Given the description of an element on the screen output the (x, y) to click on. 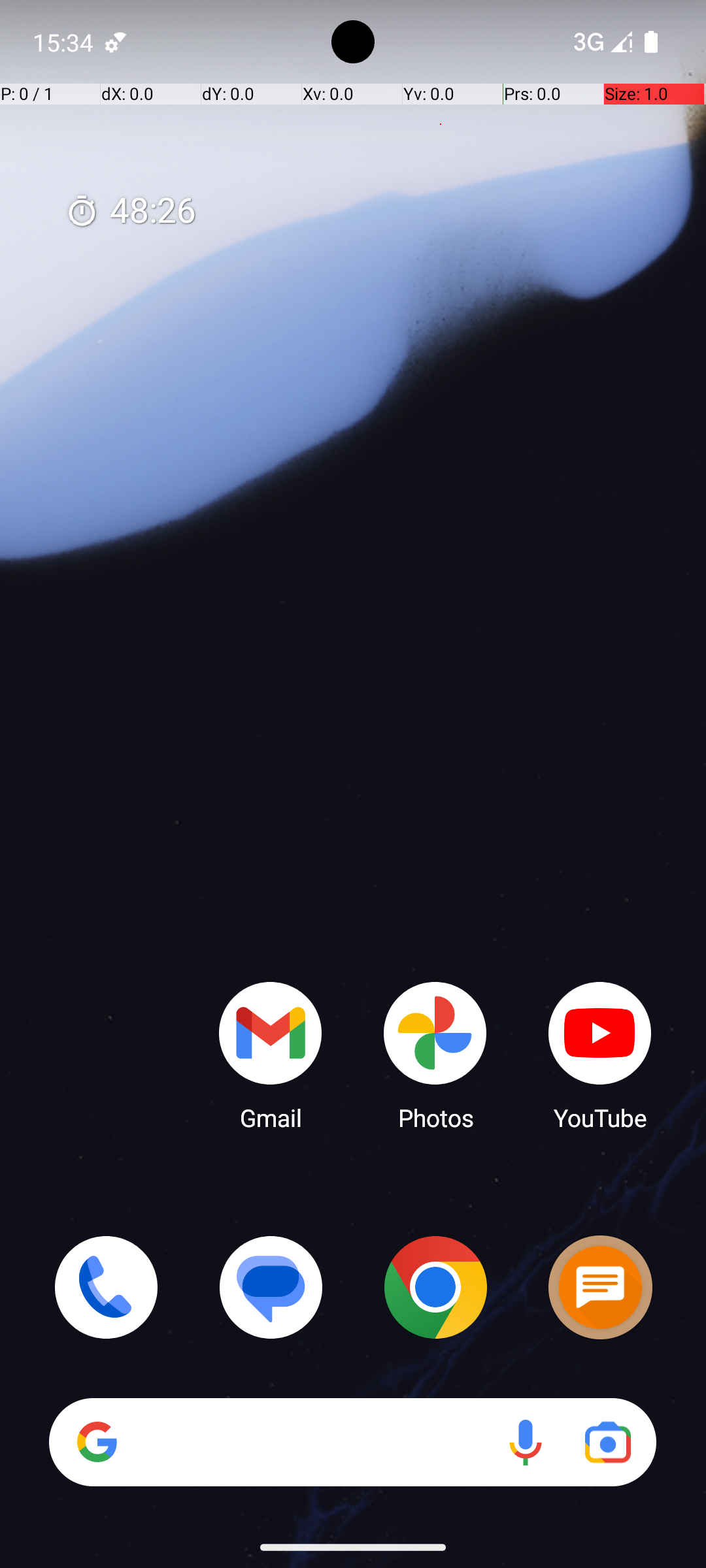
48:26 Element type: android.widget.TextView (130, 210)
